Given the description of an element on the screen output the (x, y) to click on. 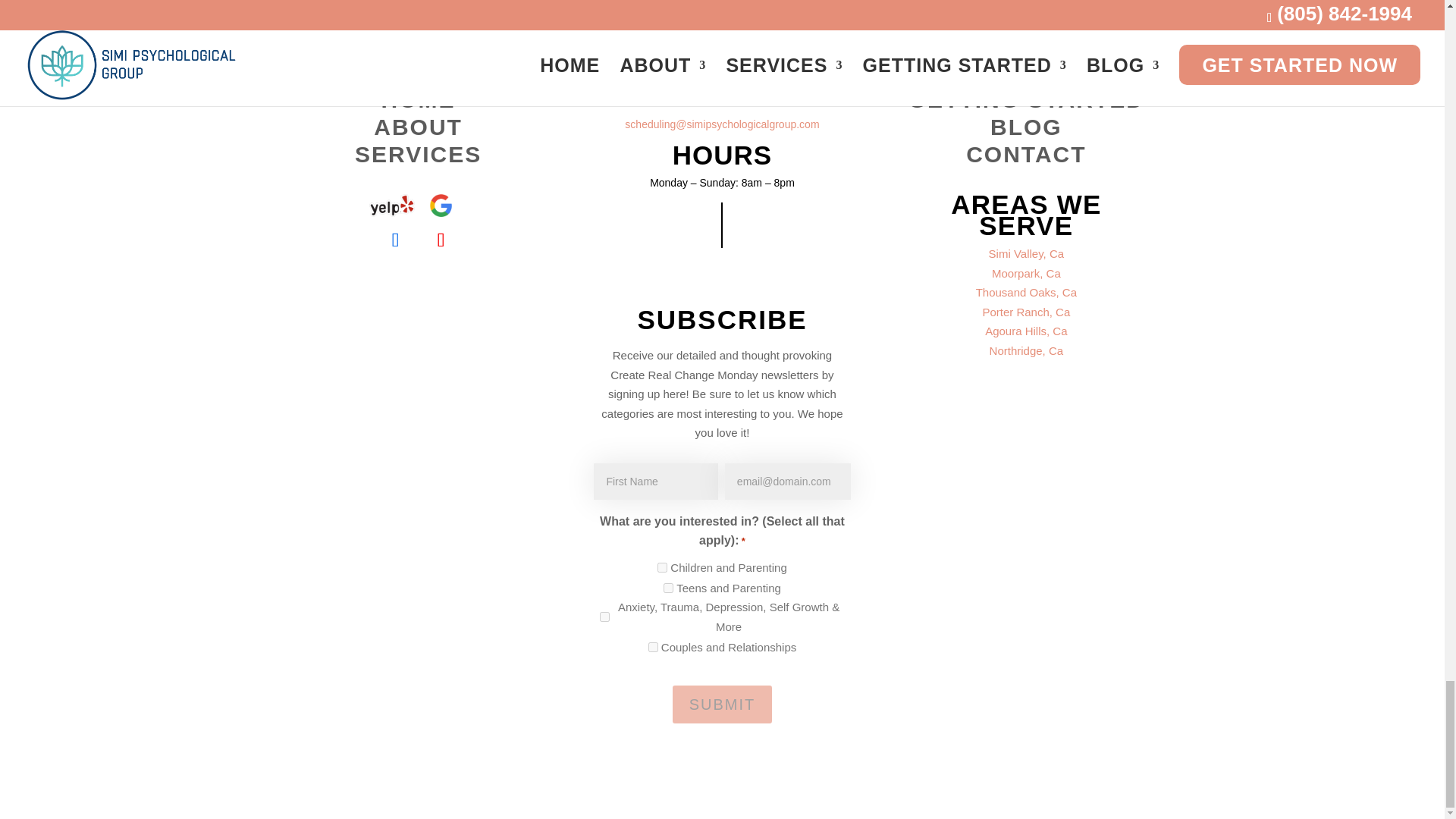
Follow on Facebook (394, 240)
Follow on Youtube (441, 240)
Children and Parenting (662, 567)
Teens and Parenting (667, 587)
Submit (722, 704)
Couples and Relationships (652, 646)
